Given the description of an element on the screen output the (x, y) to click on. 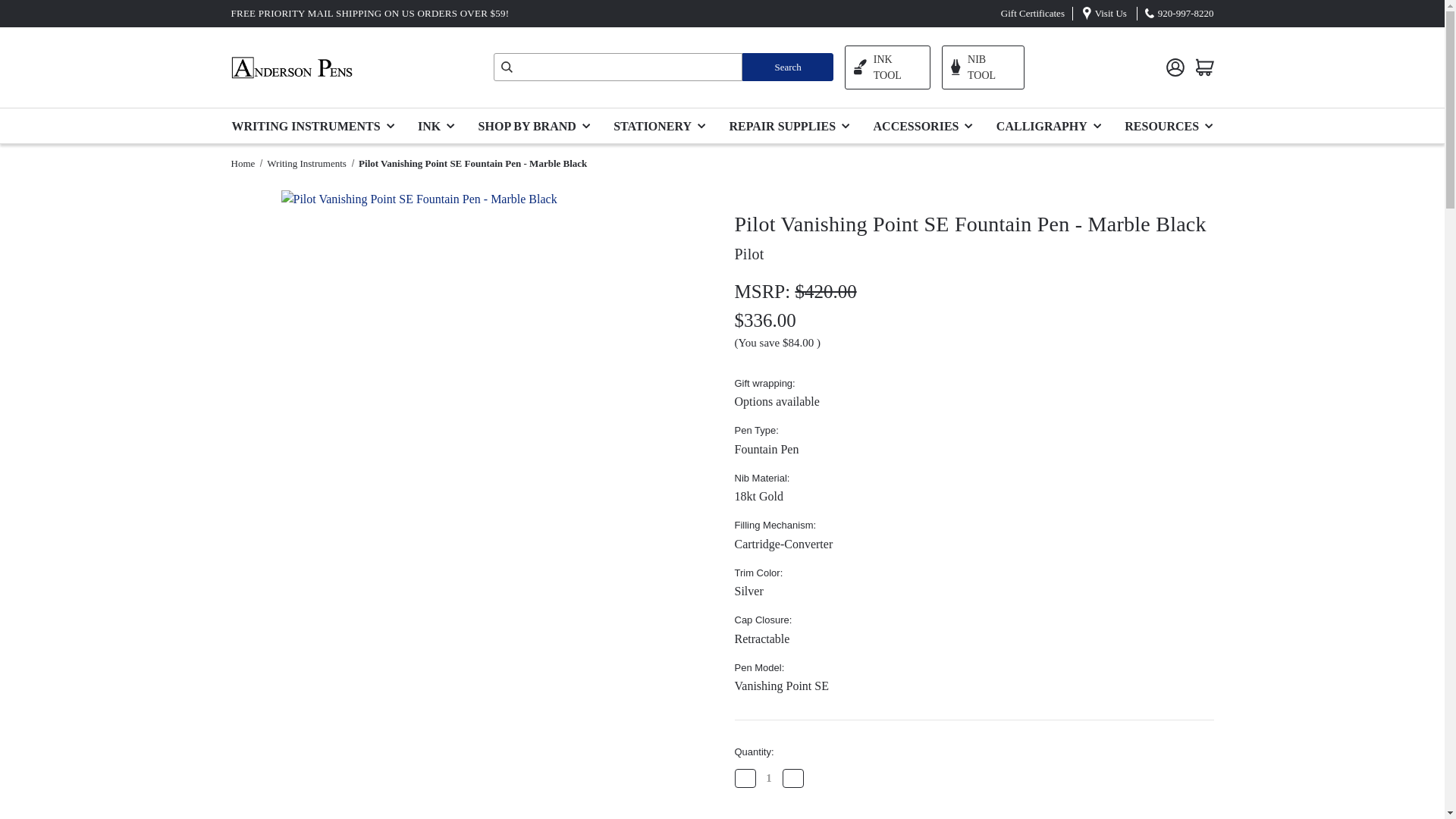
Anderson Pens, Inc. (291, 67)
INK TOOL (887, 67)
NIB TOOL (983, 67)
INK (439, 124)
SHOP BY BRAND (537, 124)
Search (787, 67)
1 (768, 778)
Visit Us (1110, 13)
WRITING INSTRUMENTS (318, 124)
Gift Certificates (1032, 13)
Search (787, 67)
920-997-8220 (1185, 13)
